Given the description of an element on the screen output the (x, y) to click on. 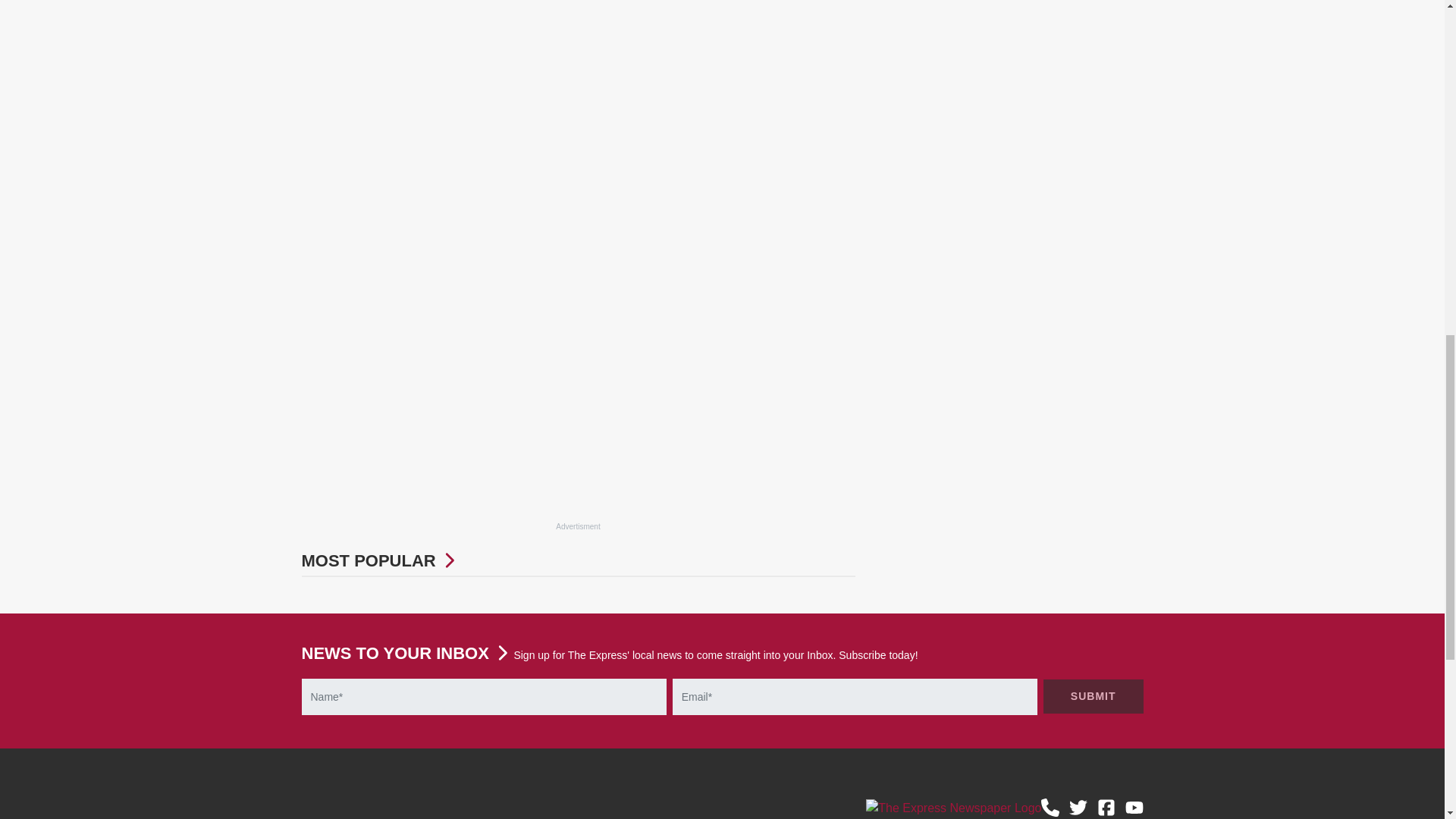
Submit (1092, 696)
Submit (1092, 696)
